Given the description of an element on the screen output the (x, y) to click on. 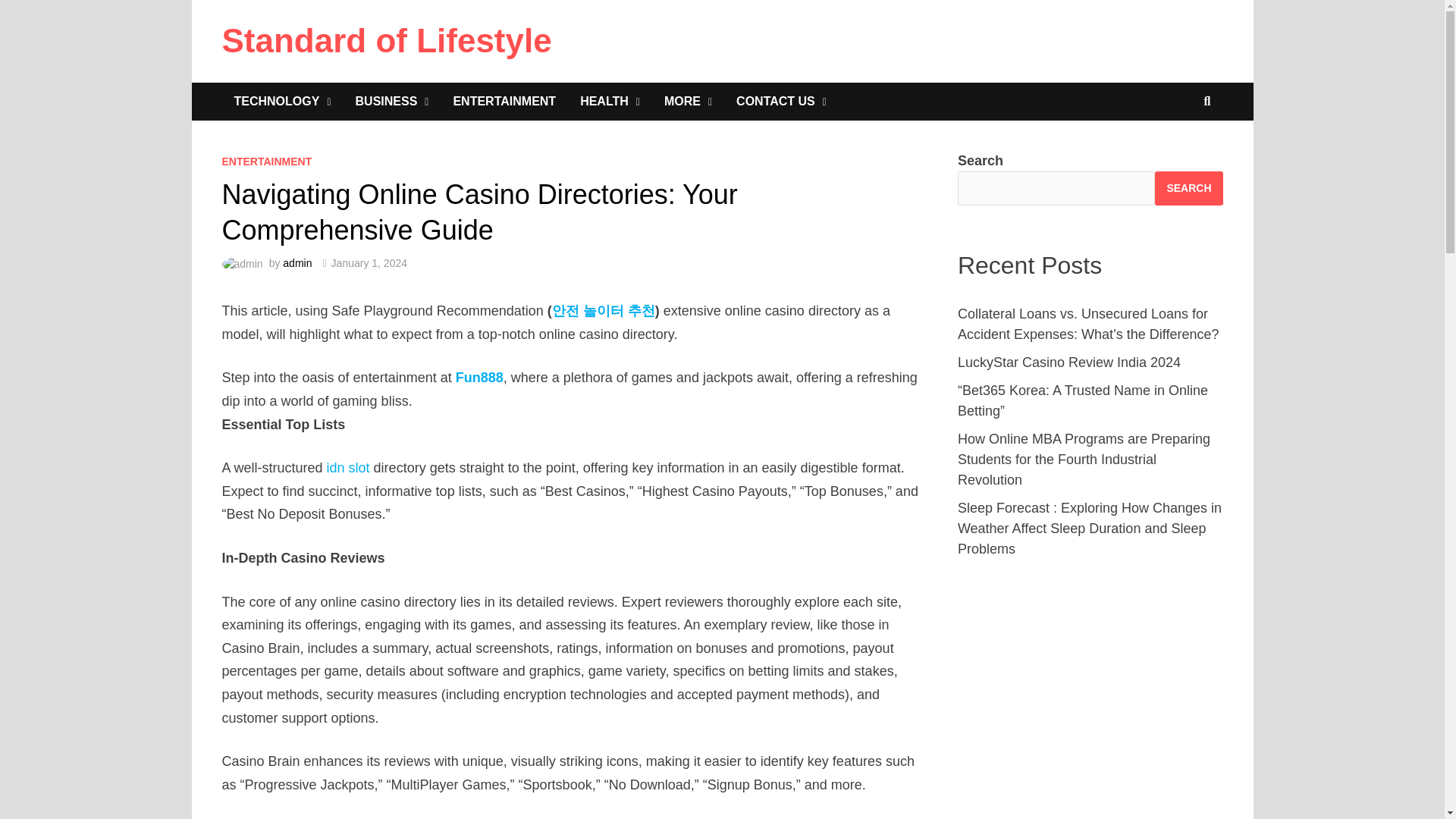
Standard of Lifestyle (386, 40)
CONTACT US (780, 101)
ENTERTAINMENT (266, 161)
HEALTH (609, 101)
admin (296, 263)
MORE (687, 101)
ENTERTAINMENT (504, 101)
Fun888 (479, 377)
TECHNOLOGY (281, 101)
January 1, 2024 (369, 263)
